Given the description of an element on the screen output the (x, y) to click on. 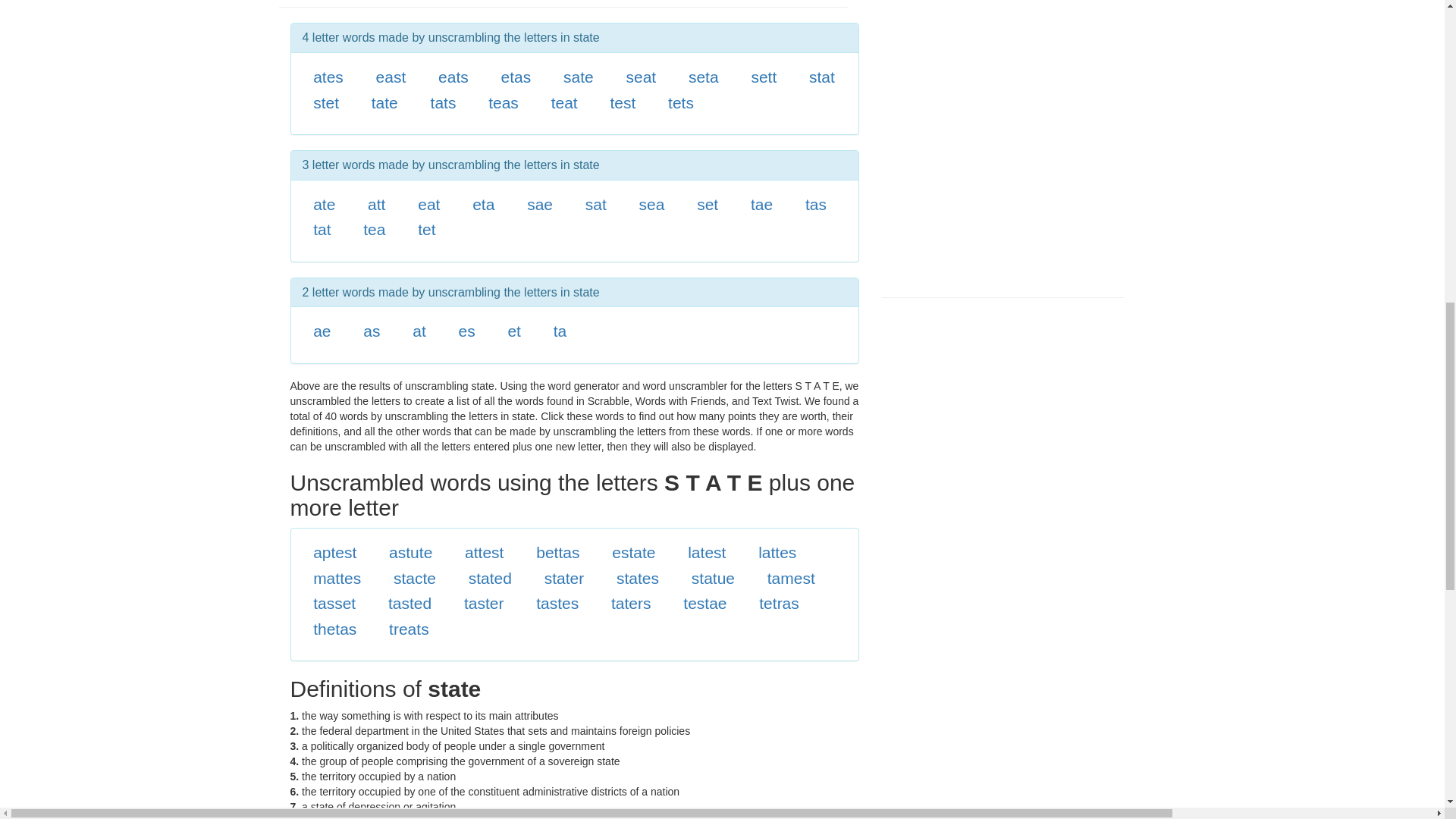
eta (483, 203)
eat (428, 203)
ate (323, 203)
sate (578, 76)
seat (641, 76)
teat (564, 102)
sat (596, 203)
tets (681, 102)
eats (453, 76)
ates (328, 76)
